Given the description of an element on the screen output the (x, y) to click on. 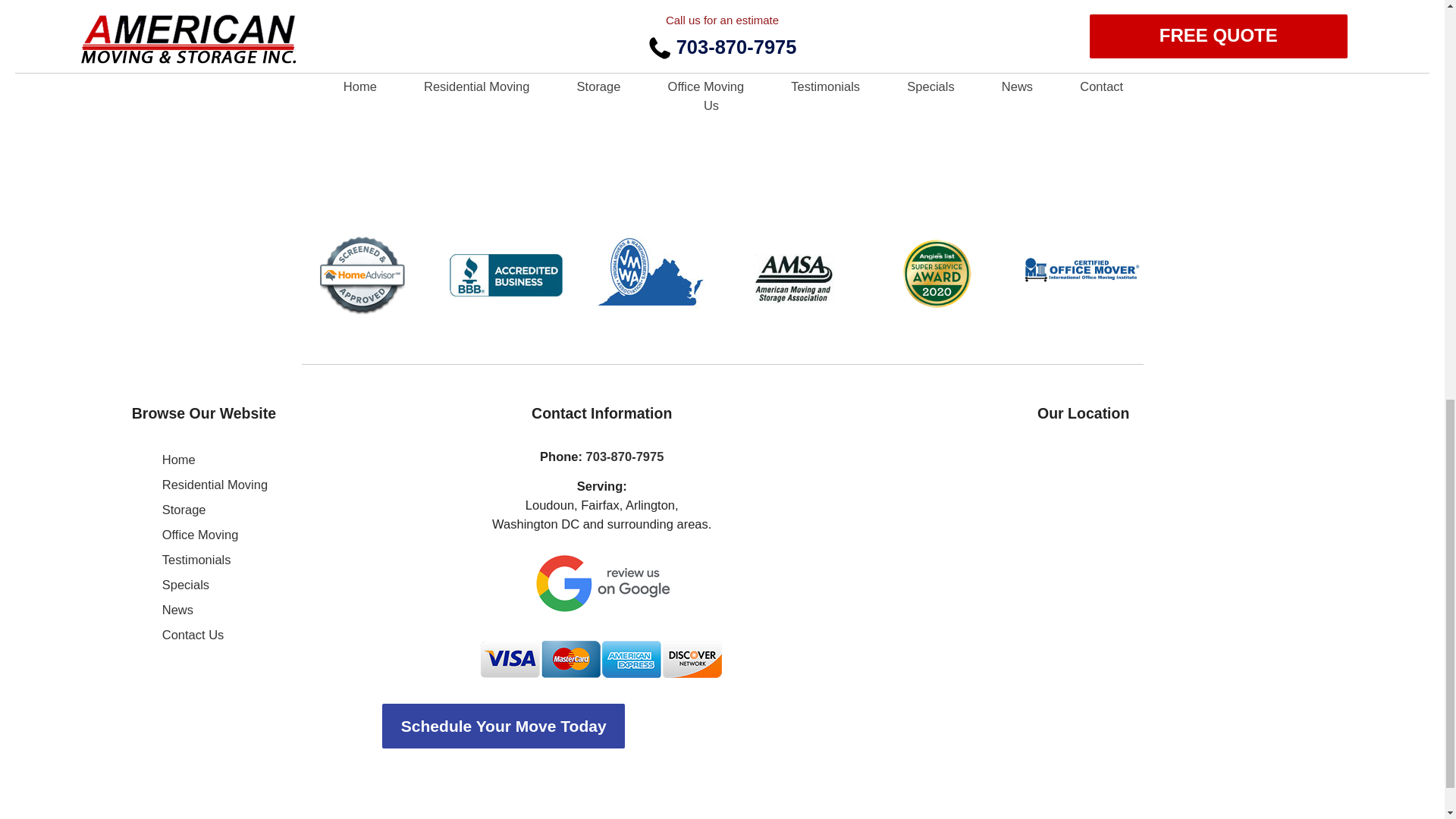
Residential Moving (214, 484)
Storage (183, 509)
Contact Us (192, 634)
703-870-7975 (624, 456)
Schedule Your Move Today (601, 726)
Contact Us (192, 634)
News (177, 609)
Storage (183, 509)
Home (178, 459)
Testimonials (196, 559)
Office Moving (199, 534)
Home (178, 459)
Office Moving (199, 534)
Specials (185, 584)
Residential Moving (214, 484)
